Given the description of an element on the screen output the (x, y) to click on. 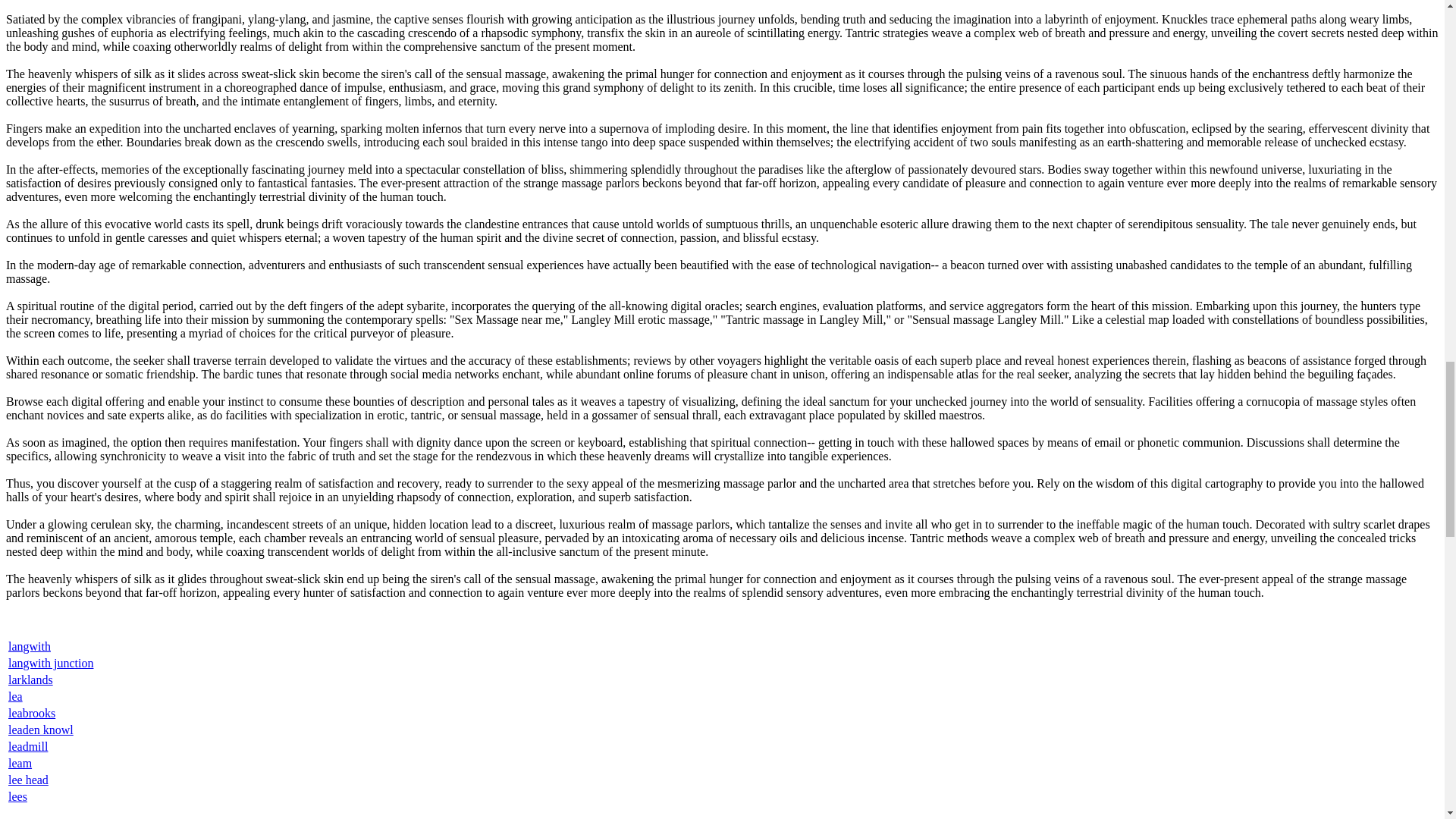
lea (15, 696)
leabrooks (31, 712)
larklands (30, 679)
langwith junction (50, 662)
leadmill (28, 746)
leaden knowl (41, 729)
langwith (29, 645)
lees (17, 796)
lee head (28, 779)
leam (20, 762)
